Given the description of an element on the screen output the (x, y) to click on. 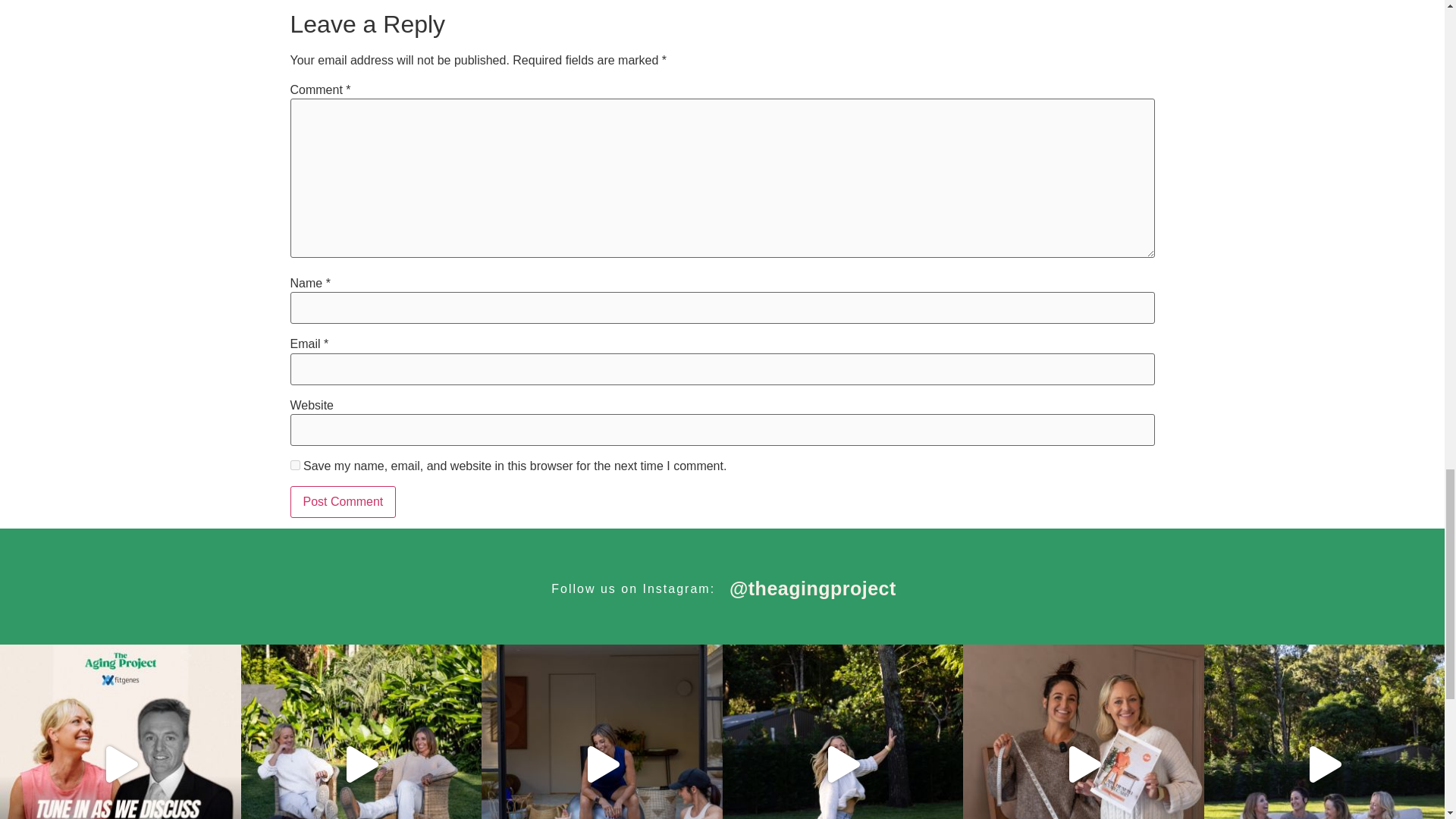
Post Comment (342, 501)
yes (294, 464)
